Given the description of an element on the screen output the (x, y) to click on. 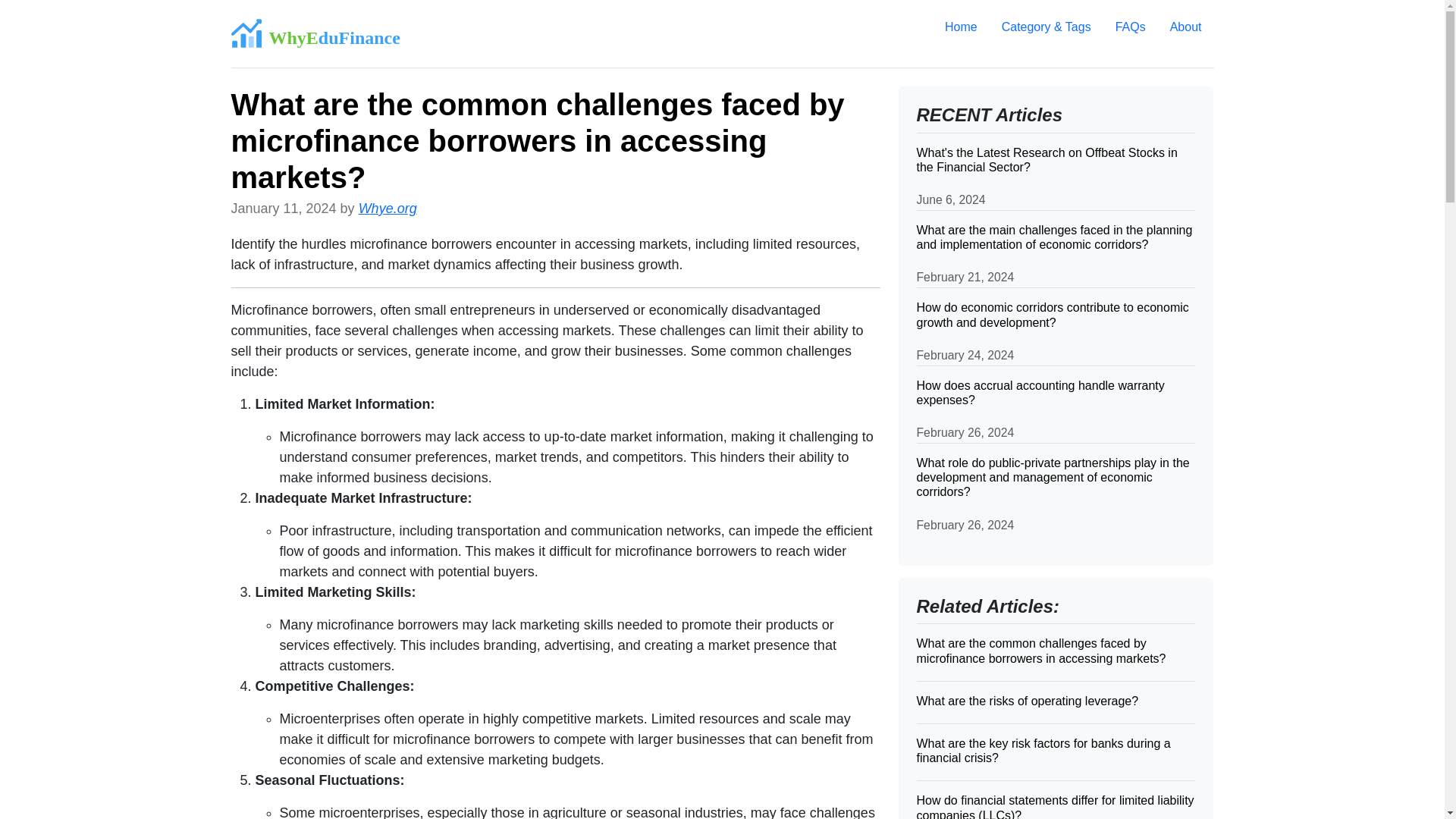
Whye.org (387, 208)
What are the risks of operating leverage? (1055, 700)
WhyEduFinance: Exploring Financial Wisdom at WhyE.org (314, 33)
FAQs (1130, 27)
About (1185, 27)
How does accrual accounting handle warranty expenses? (1055, 392)
WhyEduFinance (314, 33)
Home (961, 27)
